Given the description of an element on the screen output the (x, y) to click on. 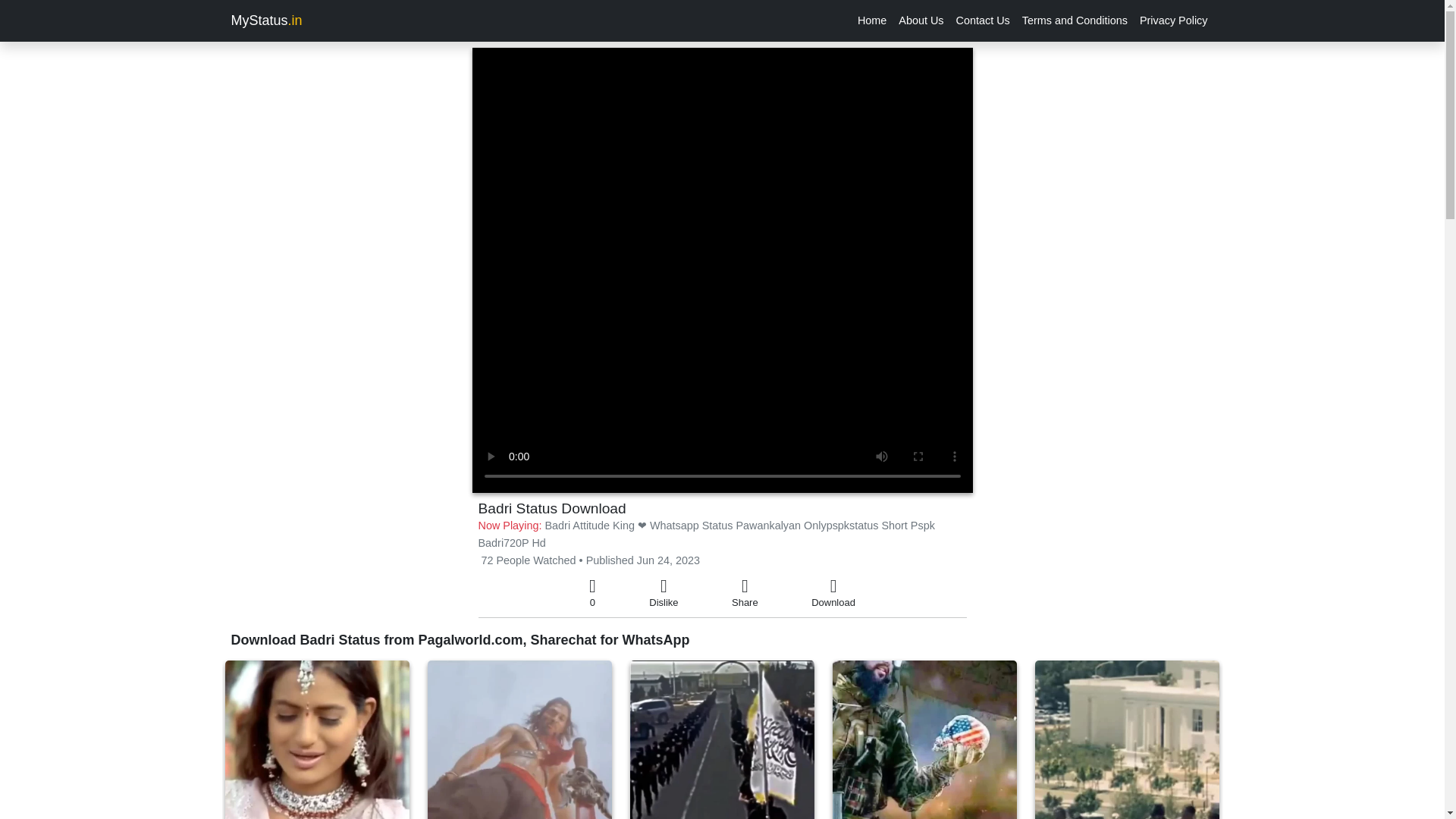
About Us (920, 20)
Contact Us (983, 20)
Terms and Conditions (1075, 20)
0 (592, 593)
Home (871, 20)
MyStatus.in (265, 20)
Dislike (663, 593)
Share (744, 593)
Download (833, 593)
Privacy Policy (1174, 20)
